Given the description of an element on the screen output the (x, y) to click on. 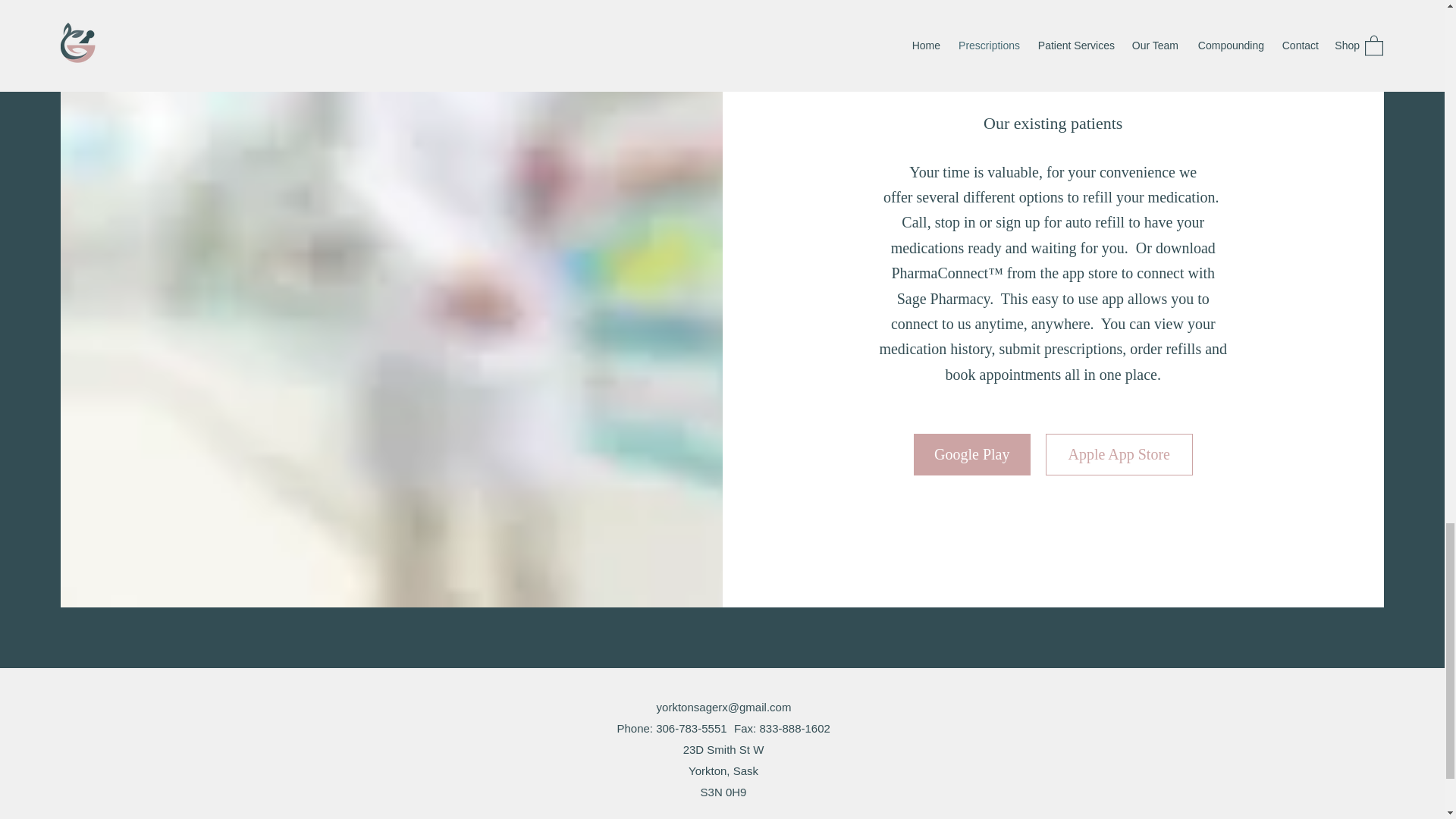
Google Play (972, 454)
Apple App Store (1118, 454)
